Given the description of an element on the screen output the (x, y) to click on. 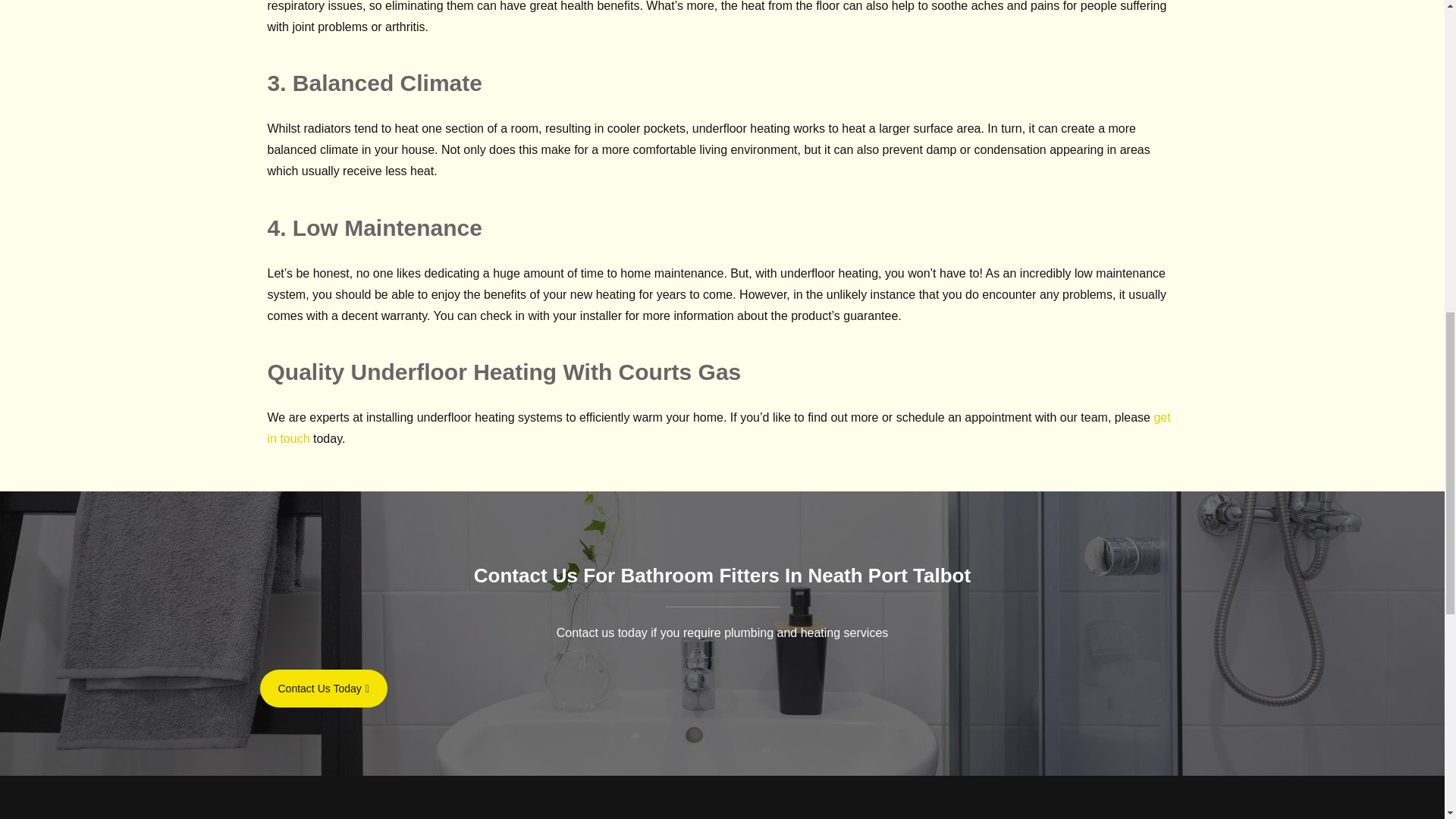
Contact Us Today (323, 688)
get in touch (718, 428)
